Given the description of an element on the screen output the (x, y) to click on. 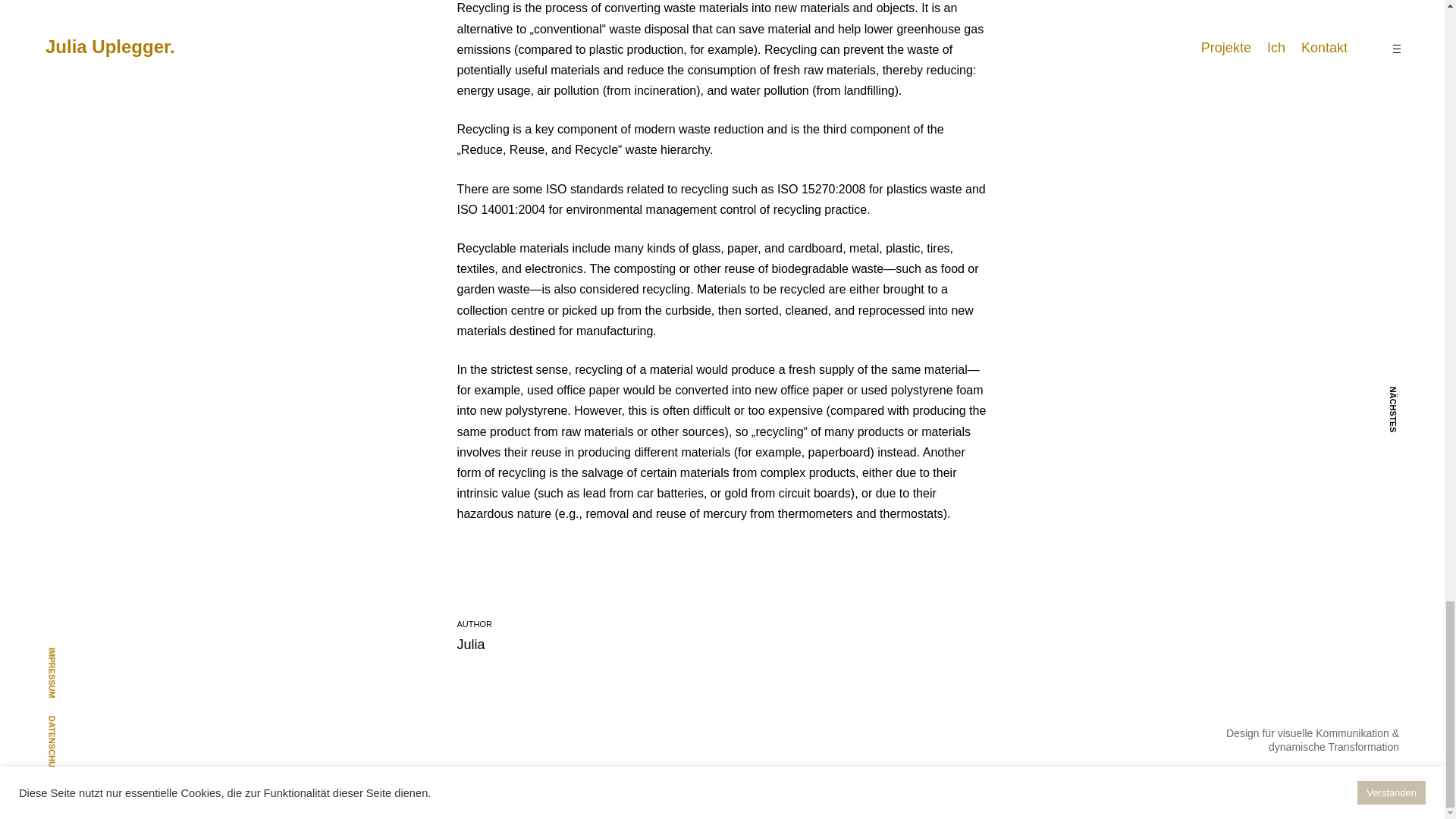
Julia (470, 644)
